Given the description of an element on the screen output the (x, y) to click on. 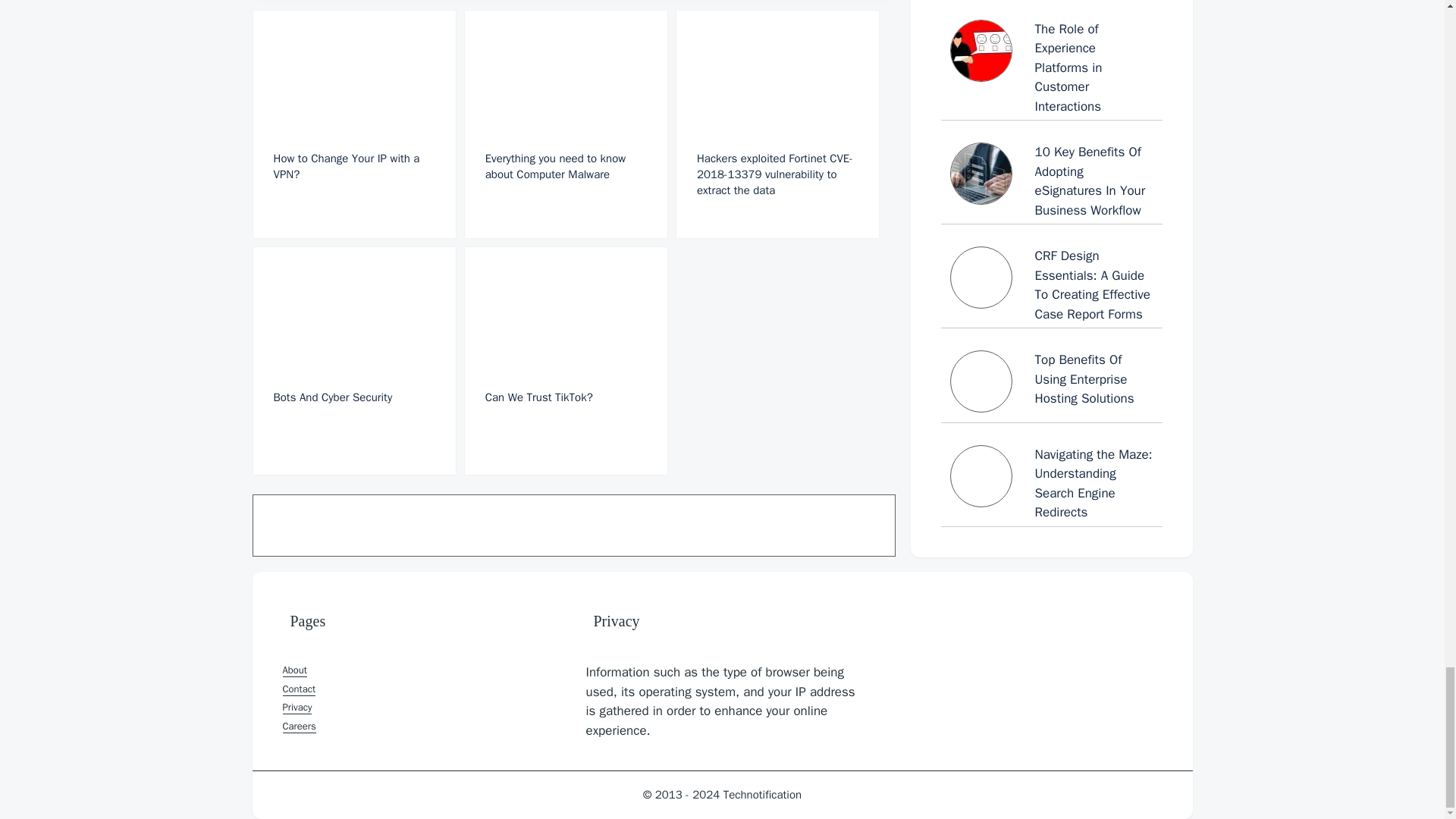
How to Change Your IP with a VPN? (353, 124)
Bots And Cyber Security (353, 360)
Can We Trust TikTok? (566, 360)
How to Change Your IP with a VPN? (353, 124)
Everything you need to know about Computer Malware (566, 124)
